Given the description of an element on the screen output the (x, y) to click on. 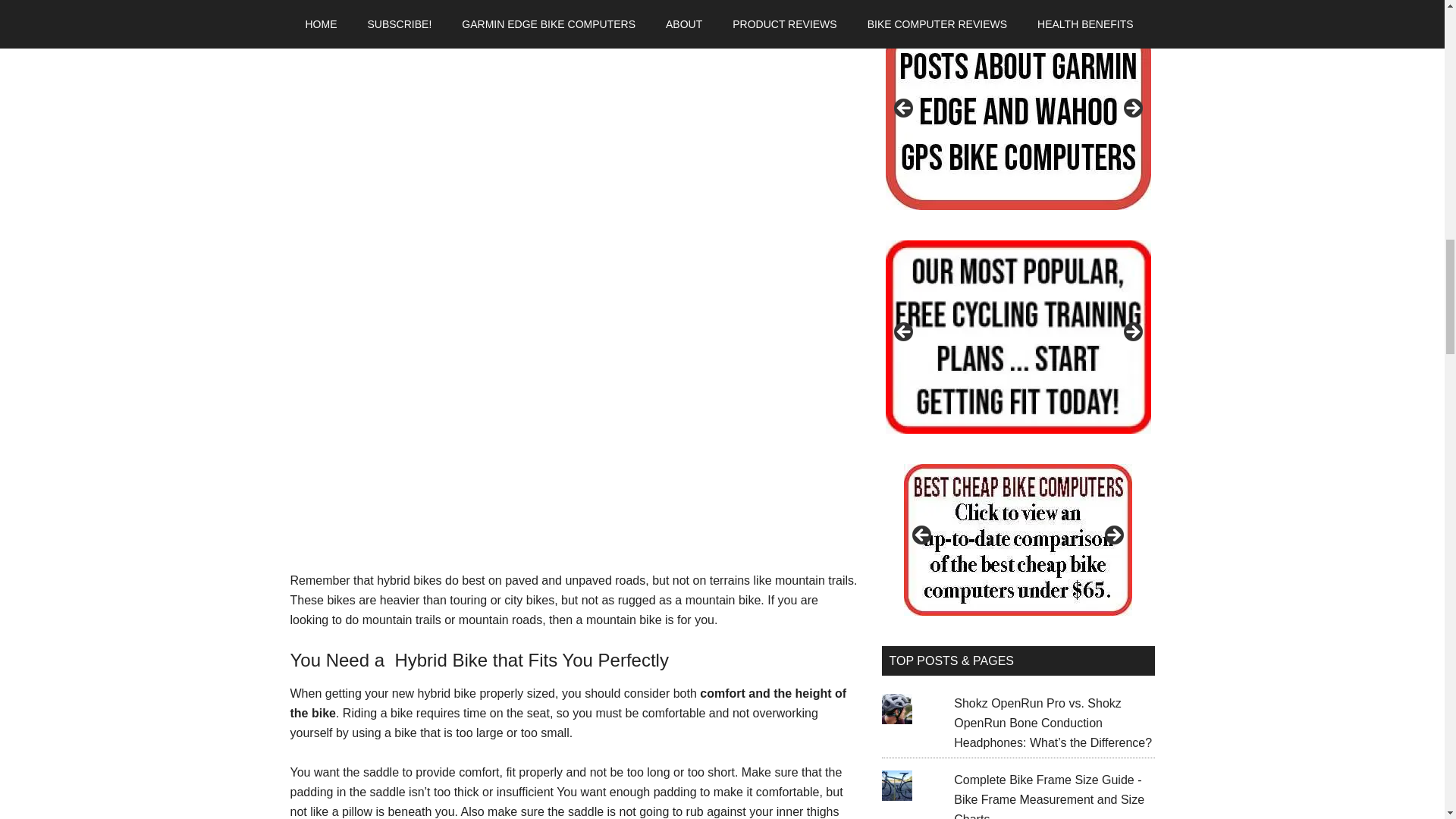
Slide 7 (752, 337)
Slide 6 (752, 112)
Slide 5 (1018, 112)
